Given the description of an element on the screen output the (x, y) to click on. 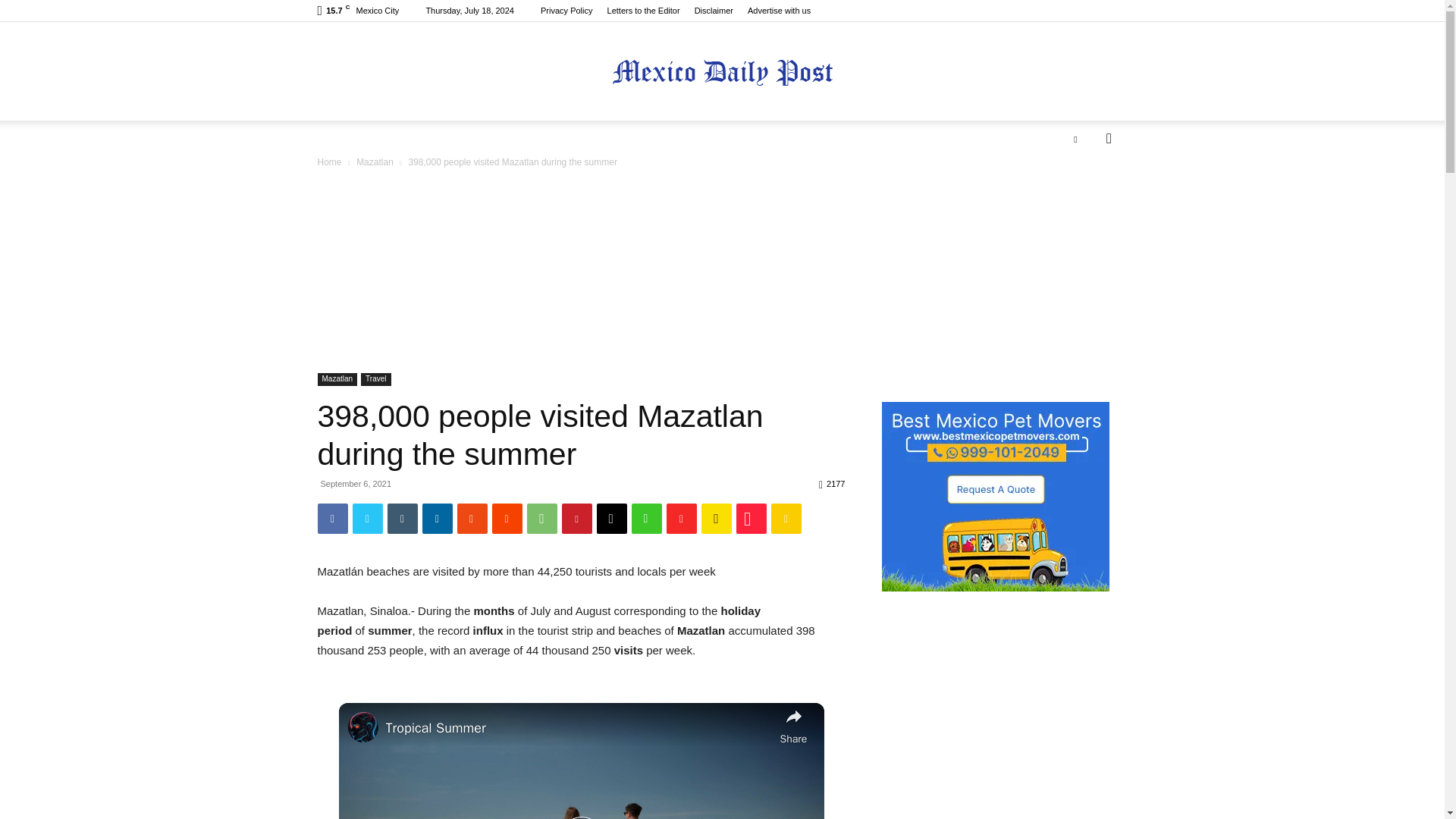
Pinterest (575, 518)
Mazatlan (336, 379)
Privacy Policy (566, 10)
Advertise with us (779, 10)
Kakao Story (715, 518)
Travel (375, 379)
Mix (471, 518)
View all posts in Mazatlan (374, 162)
Naver (645, 518)
Twitter (366, 518)
Facebook (332, 518)
Twitter (1075, 138)
Tumblr (401, 518)
Mazatlan (374, 162)
ReddIt (506, 518)
